Given the description of an element on the screen output the (x, y) to click on. 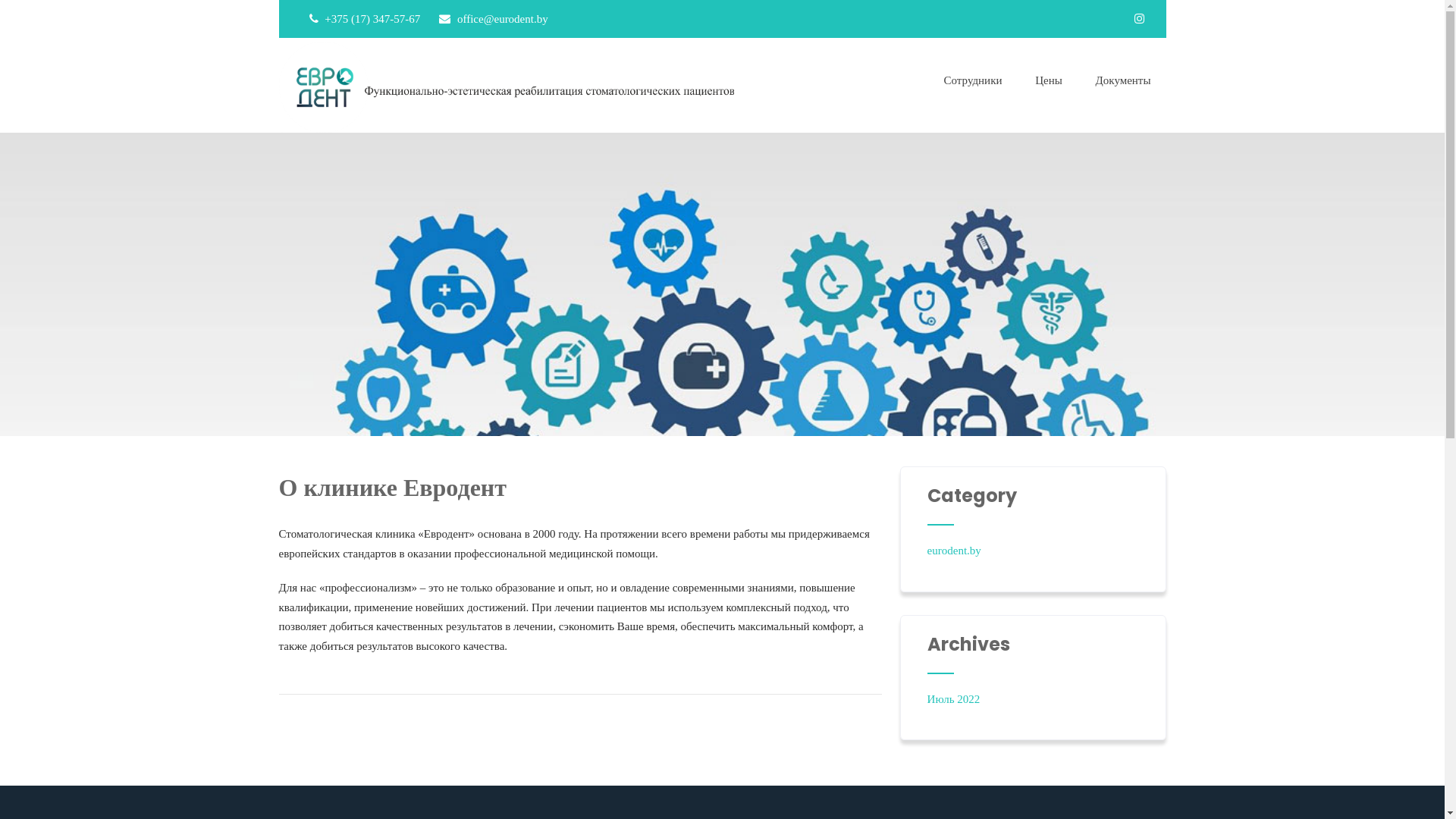
eurodent.by Element type: text (954, 550)
eurodent.by Element type: hover (506, 86)
instagram Element type: hover (1138, 18)
